Given the description of an element on the screen output the (x, y) to click on. 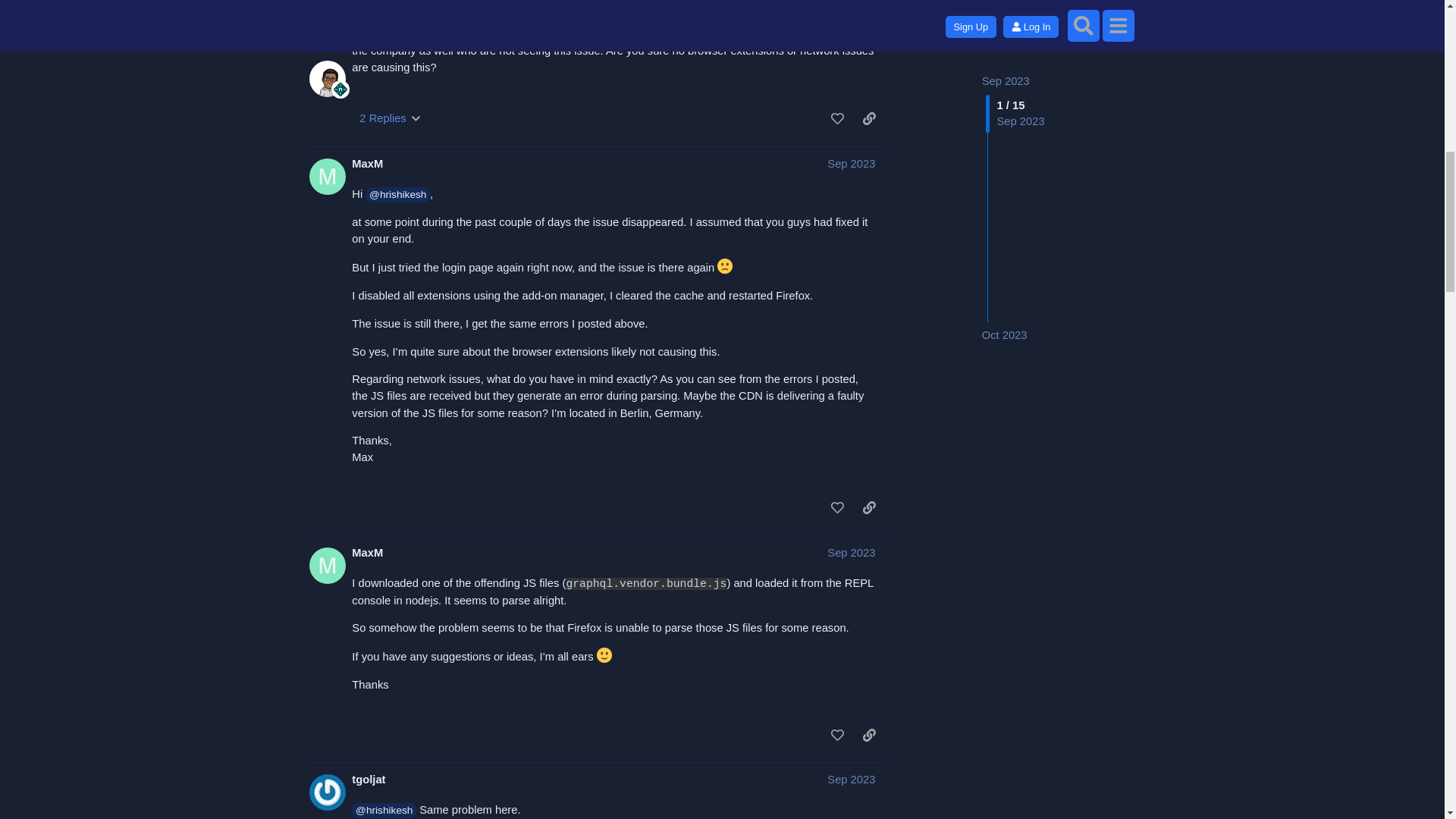
Sep 2023 (851, 4)
2 Replies (390, 118)
hrishikesh (379, 6)
